Given the description of an element on the screen output the (x, y) to click on. 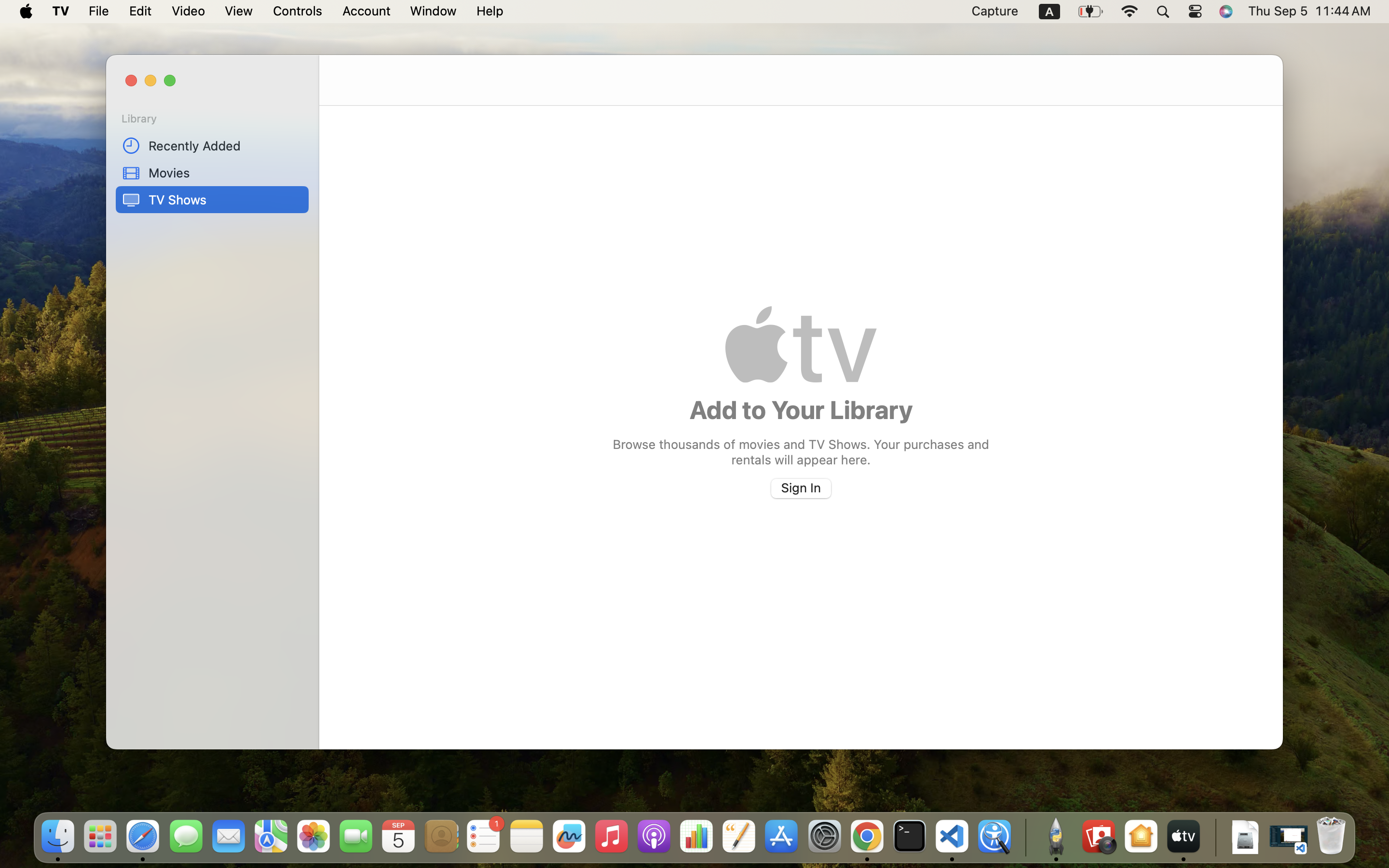
Add to Your Library Element type: AXStaticText (800, 409)
Browse thousands of movies and TV Shows. Your purchases and rentals will appear here. Element type: AXStaticText (800, 450)
